Given the description of an element on the screen output the (x, y) to click on. 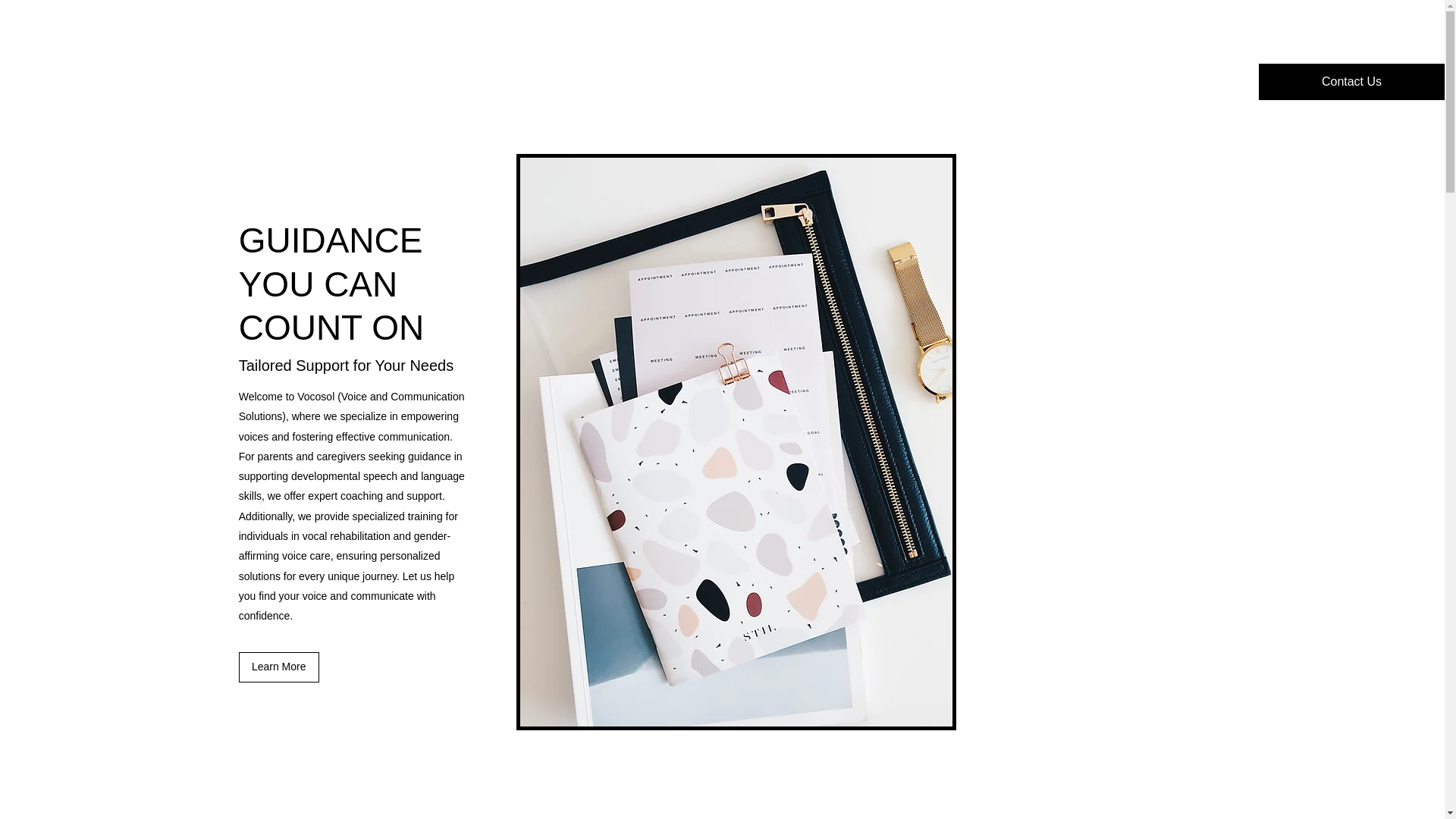
Learn More (278, 666)
